Given the description of an element on the screen output the (x, y) to click on. 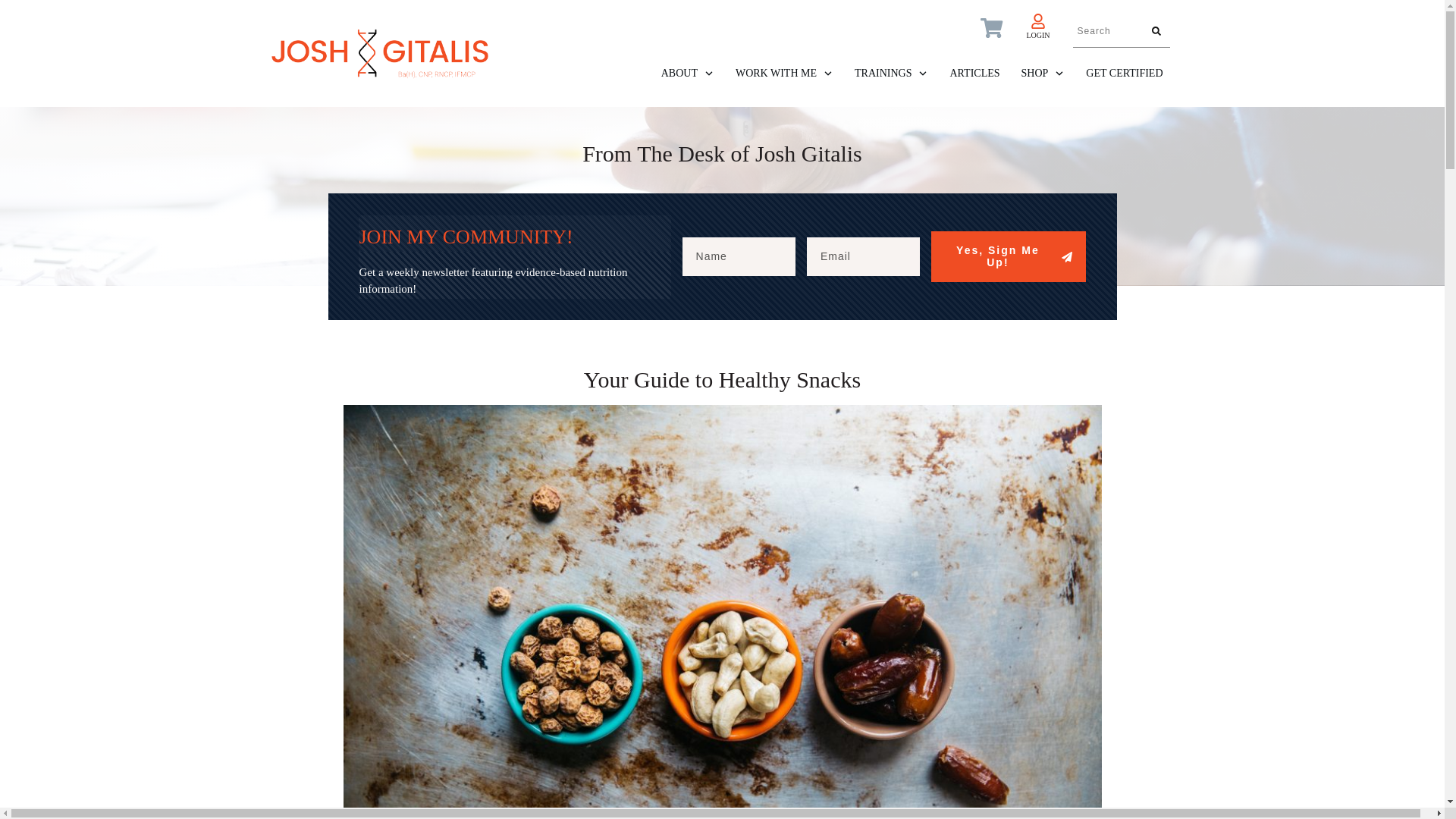
GET CERTIFIED (1123, 73)
SHOP (1043, 73)
Yes, Sign Me Up! (1008, 255)
ARTICLES (973, 73)
WORK WITH ME (783, 73)
ABOUT (687, 73)
Your Guide to Healthy Snacks (721, 379)
Your Guide to Healthy Snacks (721, 379)
TRAININGS (891, 73)
